Given the description of an element on the screen output the (x, y) to click on. 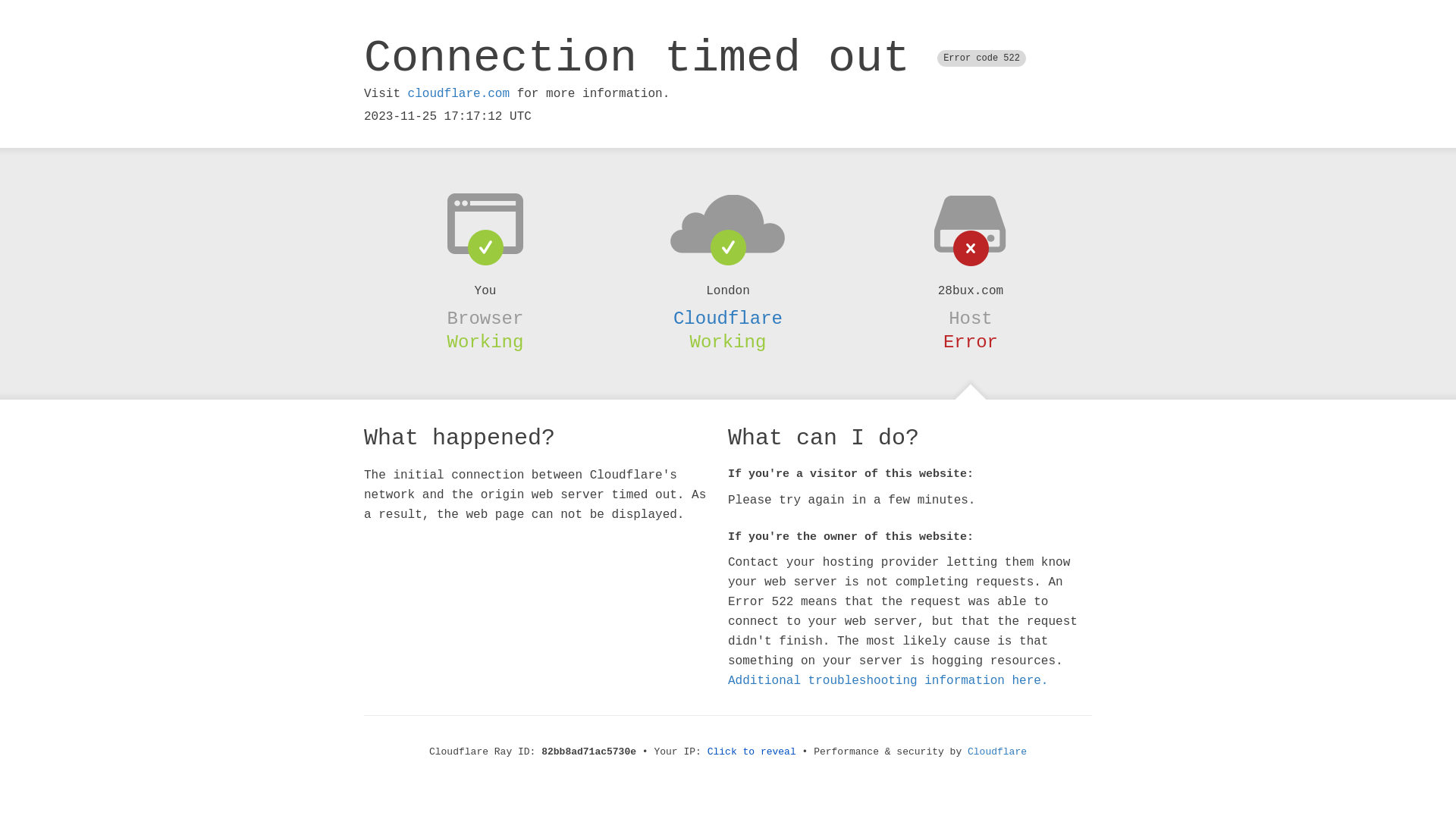
Cloudflare Element type: text (996, 751)
Cloudflare Element type: text (727, 318)
Click to reveal Element type: text (751, 751)
Additional troubleshooting information here. Element type: text (888, 680)
cloudflare.com Element type: text (458, 93)
